Given the description of an element on the screen output the (x, y) to click on. 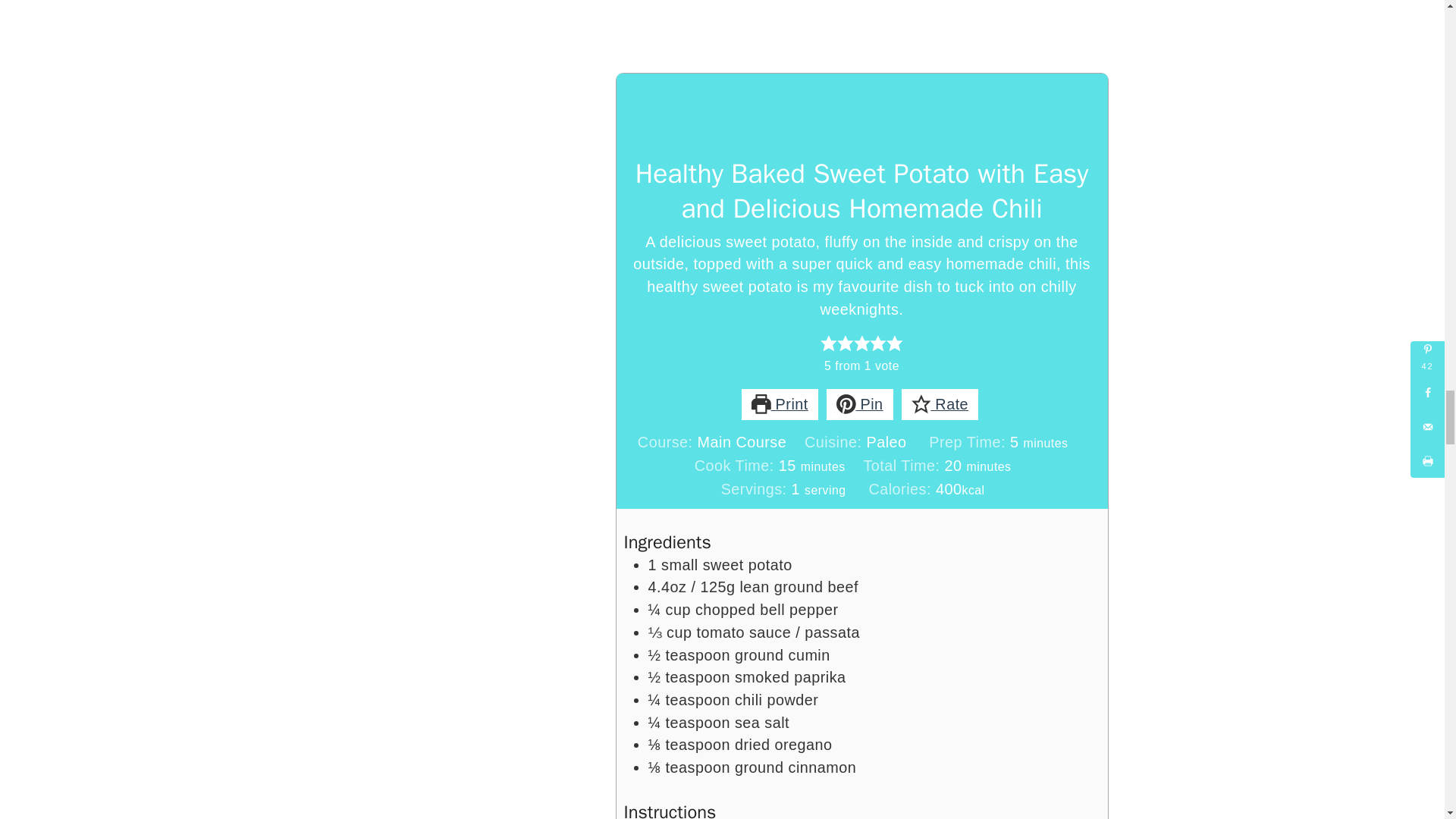
Rate (939, 404)
Print (779, 404)
Pin (860, 404)
